Given the description of an element on the screen output the (x, y) to click on. 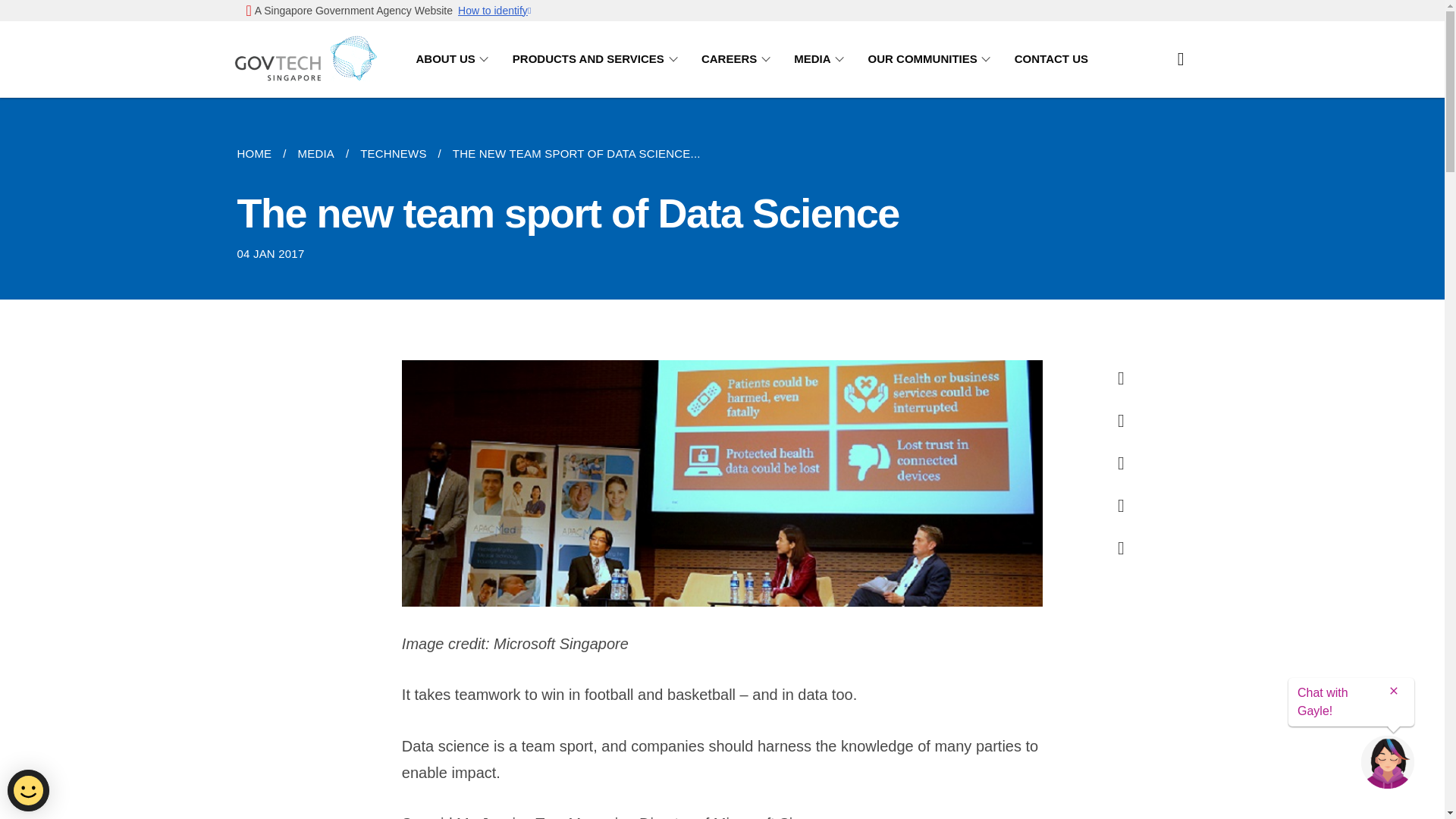
MEDIA (315, 153)
CONTACT US (1050, 59)
CAREERS (738, 59)
OUR COMMUNITIES (931, 59)
ABOUT US (453, 59)
THE NEW TEAM SPORT OF DATA SCIENCE... (576, 153)
PRODUCTS AND SERVICES (597, 59)
TECHNEWS (393, 153)
HOME (258, 153)
